Given the description of an element on the screen output the (x, y) to click on. 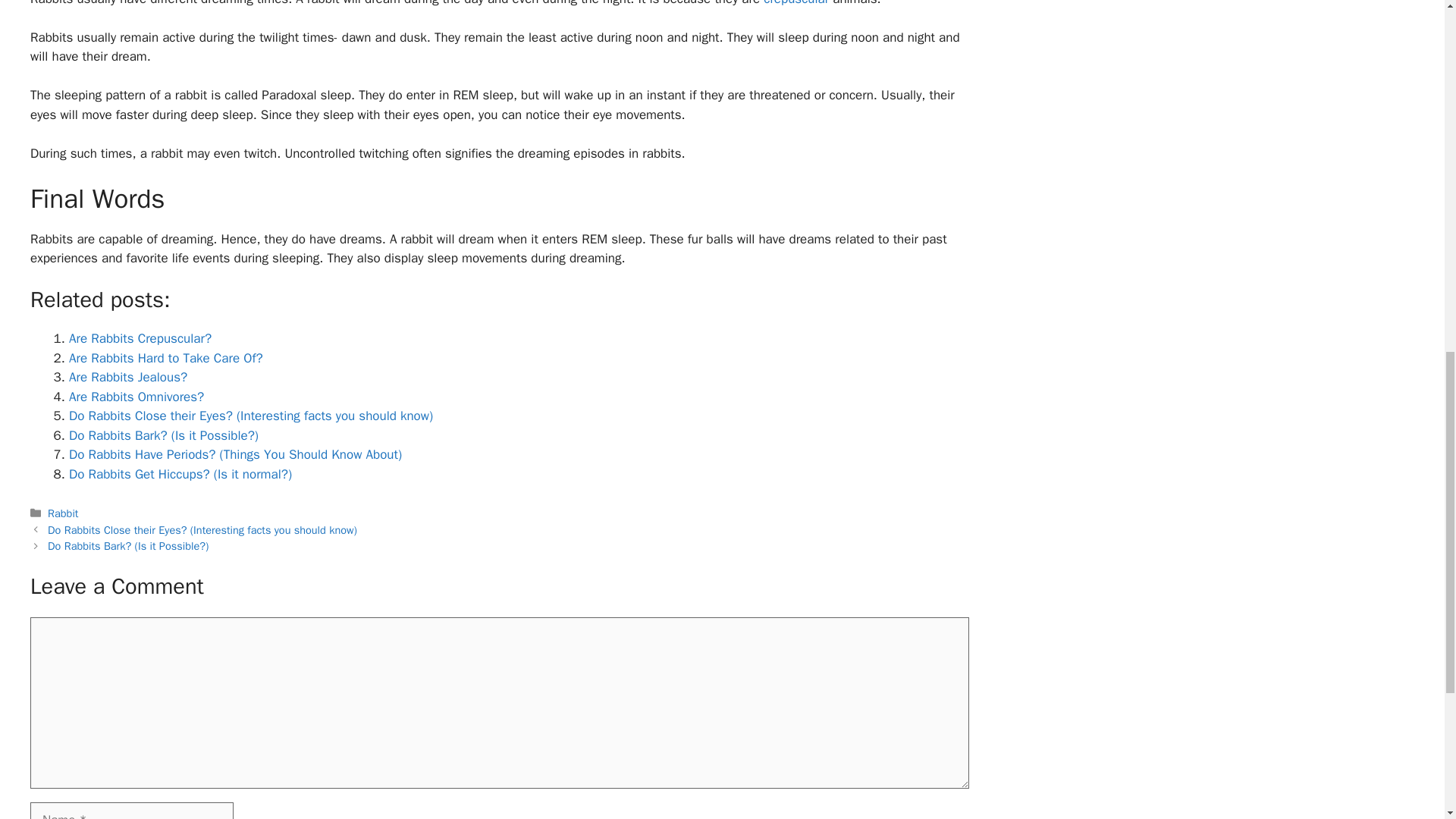
Are Rabbits Crepuscular? (139, 338)
Are Rabbits Hard to Take Care Of? (165, 358)
Are Rabbits Crepuscular? (139, 338)
Are Rabbits Jealous? (127, 376)
Are Rabbits Hard to Take Care Of? (165, 358)
Are Rabbits Omnivores? (135, 396)
crepuscular (795, 3)
Are Rabbits Jealous? (127, 376)
Are Rabbits Omnivores? (135, 396)
Rabbit (63, 513)
